Given the description of an element on the screen output the (x, y) to click on. 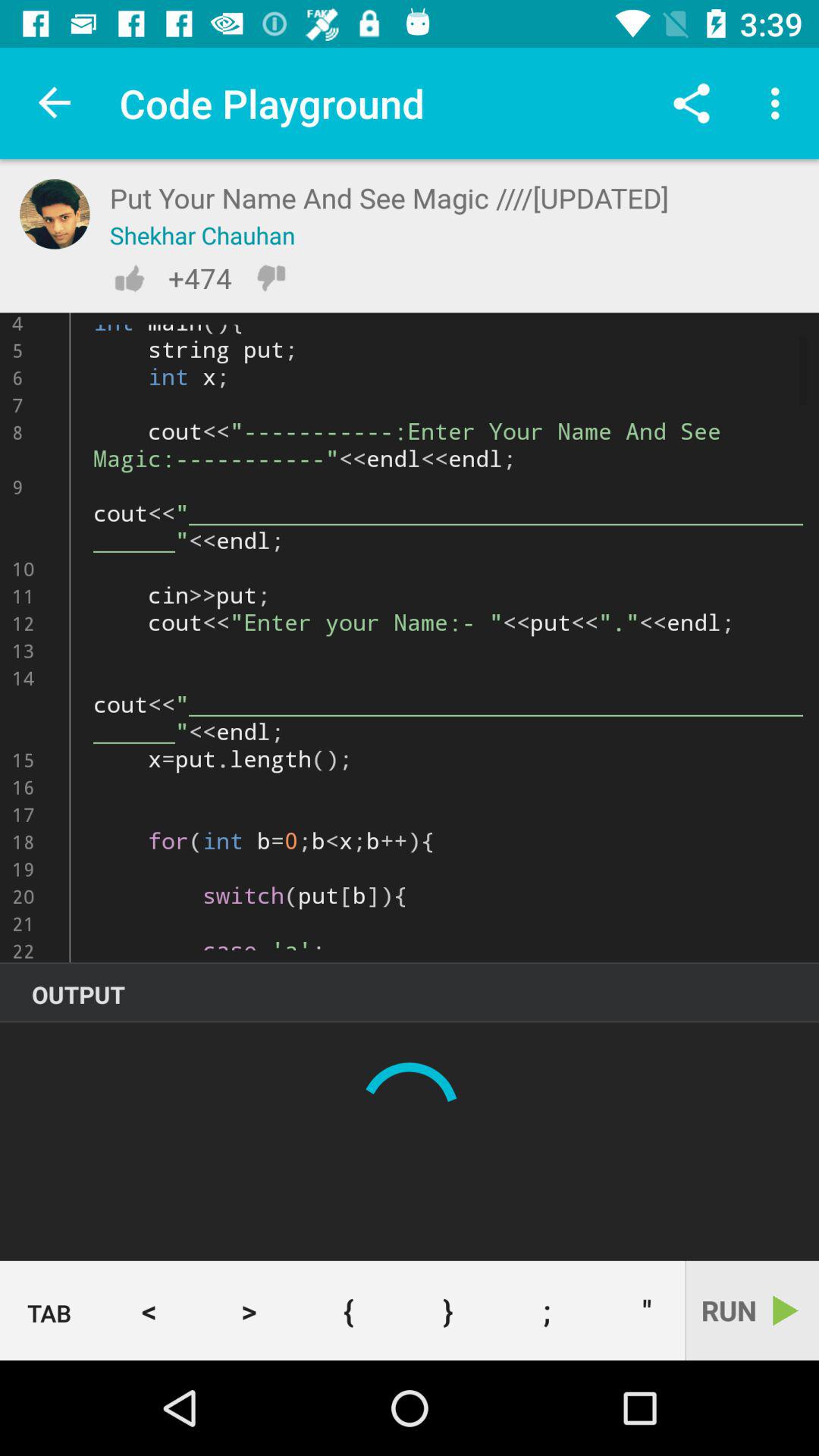
see profile (54, 214)
